Given the description of an element on the screen output the (x, y) to click on. 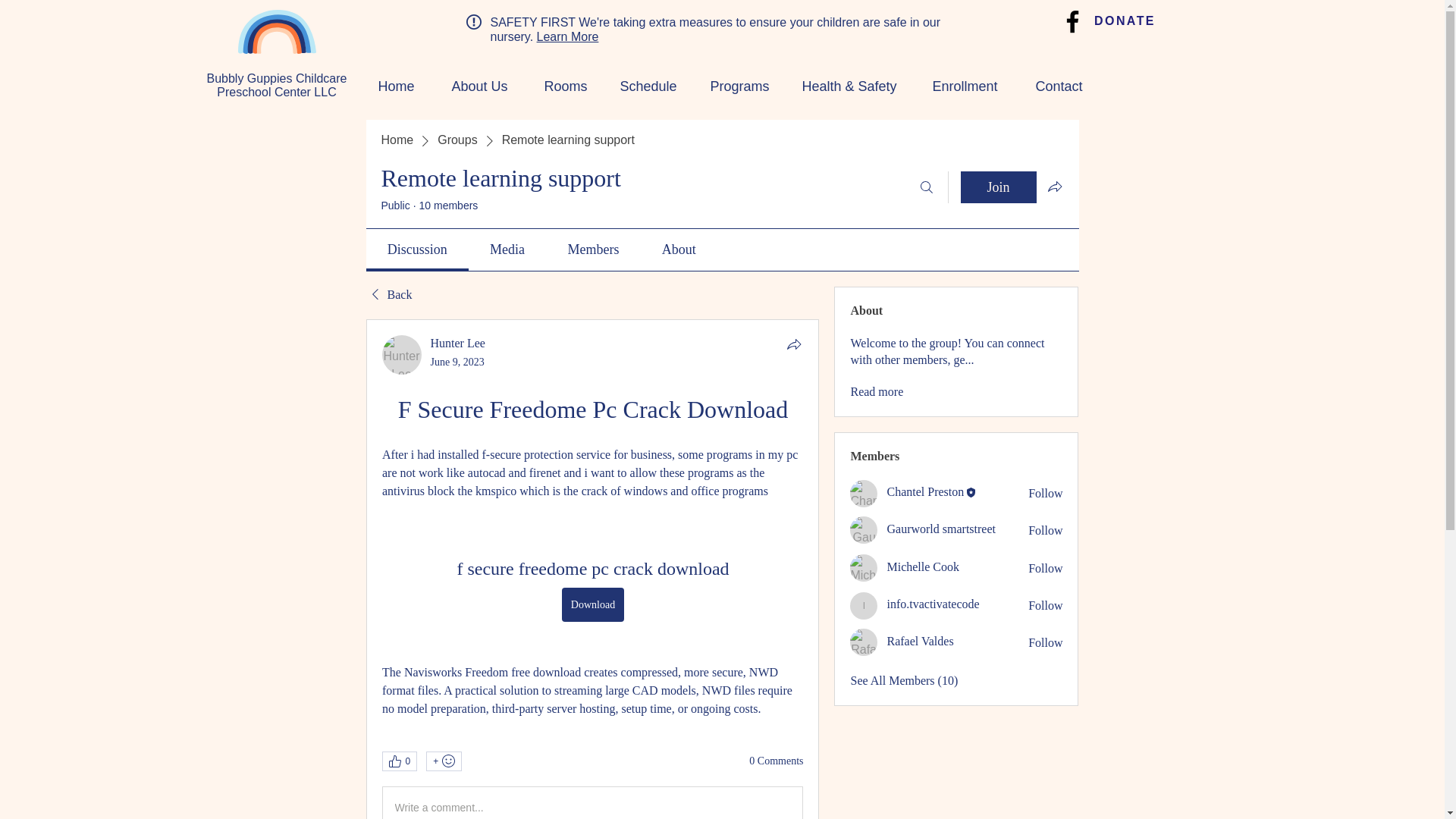
About Us (472, 86)
June 9, 2023 (457, 361)
Contact (1051, 86)
Hunter Lee (401, 354)
Michelle Cook (863, 567)
Follow (1044, 530)
Bubbly Guppies Childcare Preschool Center LLC (276, 85)
info.tvactivatecode (932, 603)
